Given the description of an element on the screen output the (x, y) to click on. 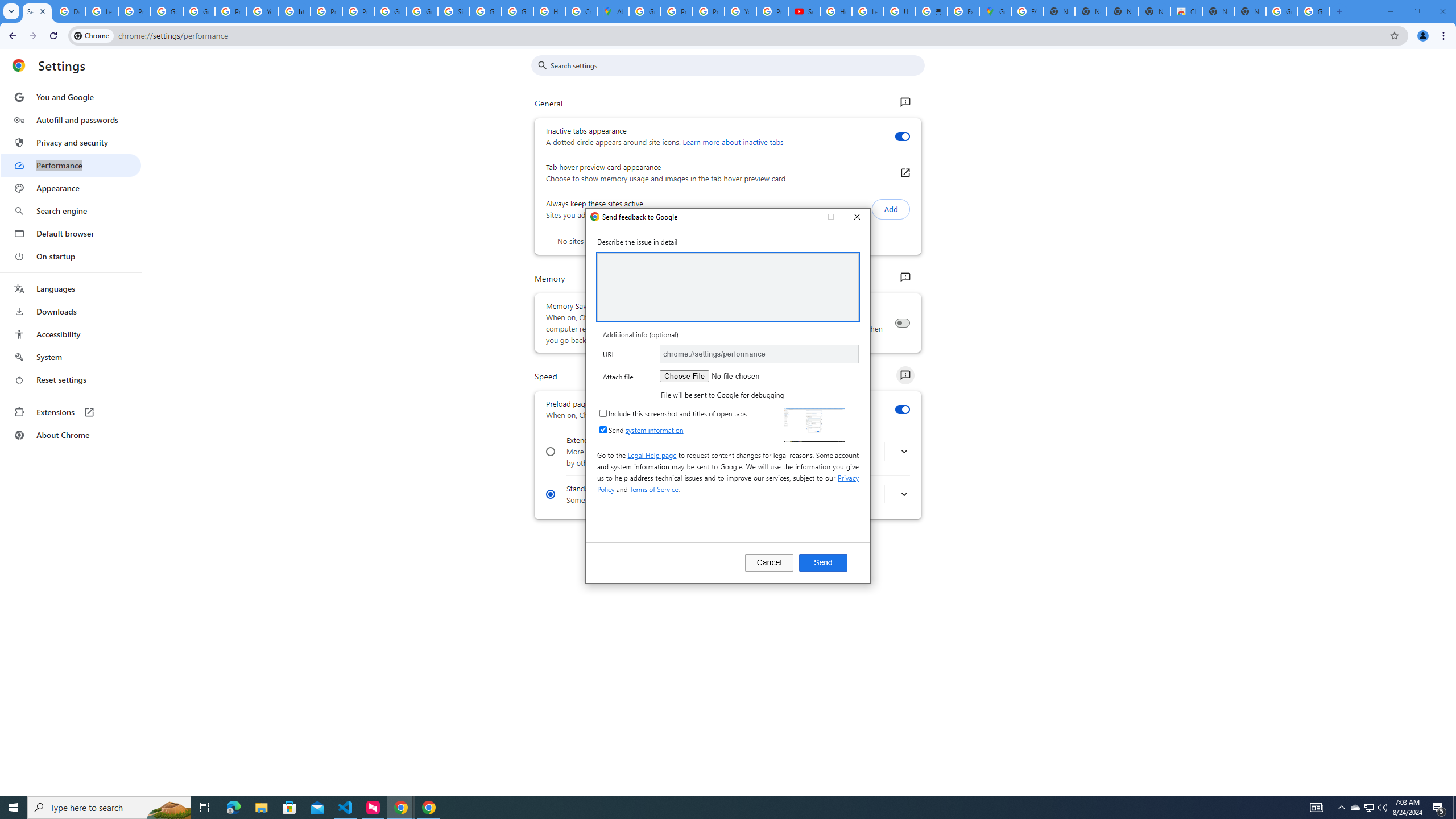
Privacy Help Center - Policies Help (676, 11)
Learn more about inactive tabs (732, 141)
Cancel (769, 562)
Type here to search (1368, 807)
Microsoft Store (108, 807)
YouTube (289, 807)
AutomationID: 4105 (740, 11)
